Given the description of an element on the screen output the (x, y) to click on. 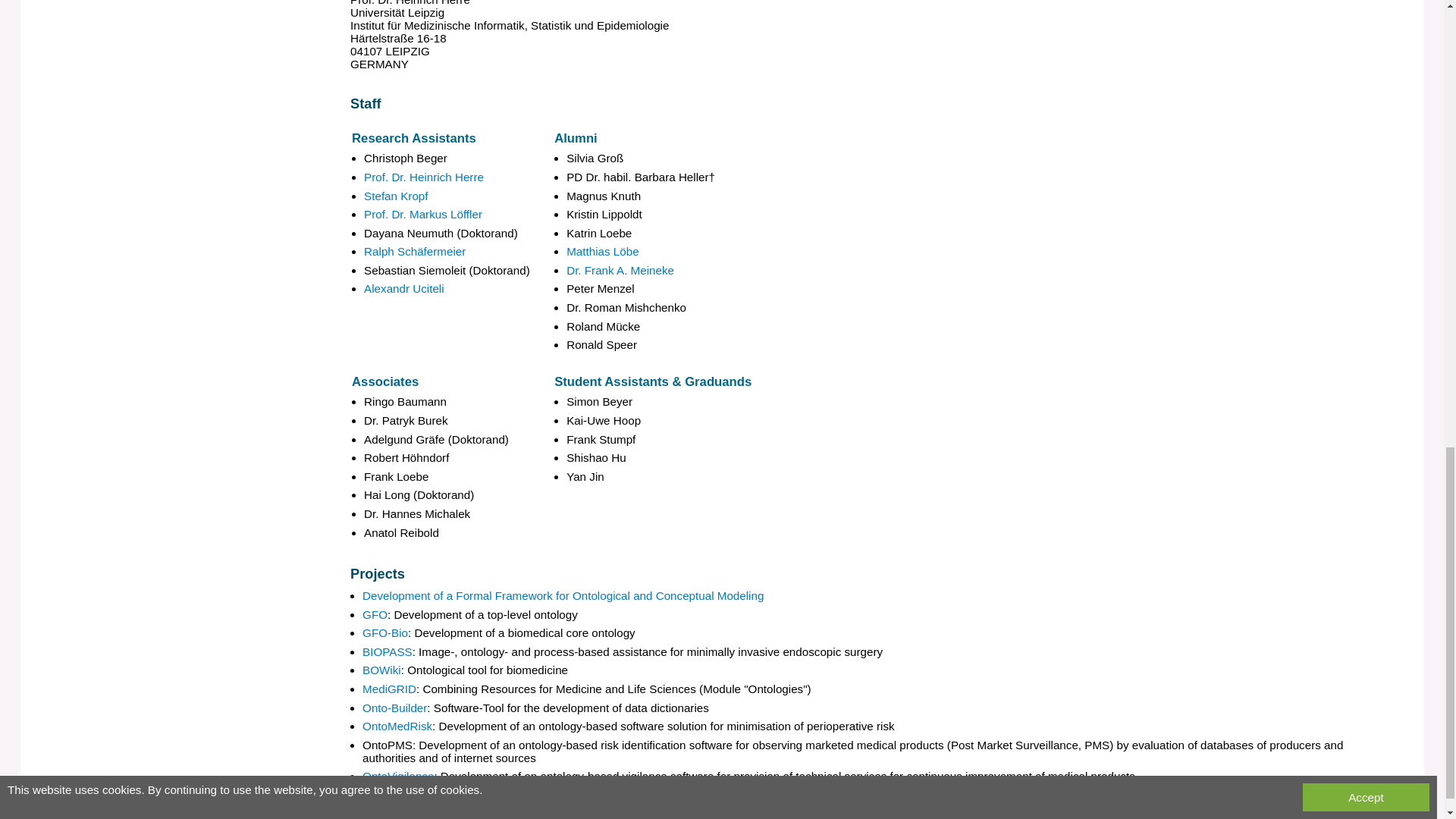
Stefan Kropf (396, 195)
Prof. Dr. Heinrich Herre (423, 176)
